Given the description of an element on the screen output the (x, y) to click on. 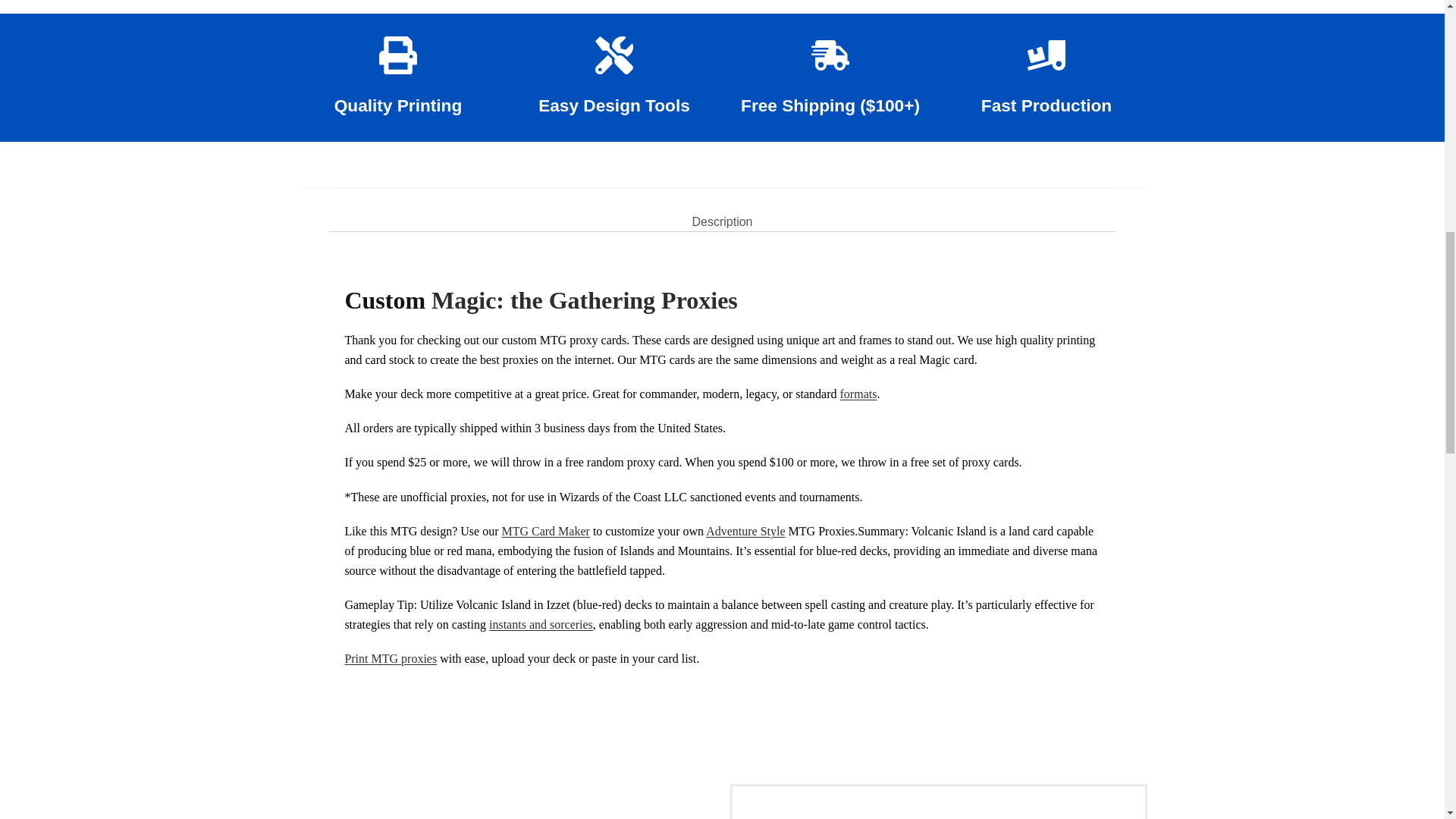
MTG Card Maker (544, 530)
Description (721, 209)
formats (858, 393)
Print MTG proxies (389, 658)
Adventure Style (745, 530)
Magic: the Gathering Proxies (584, 299)
instants and sorceries (540, 624)
